Given the description of an element on the screen output the (x, y) to click on. 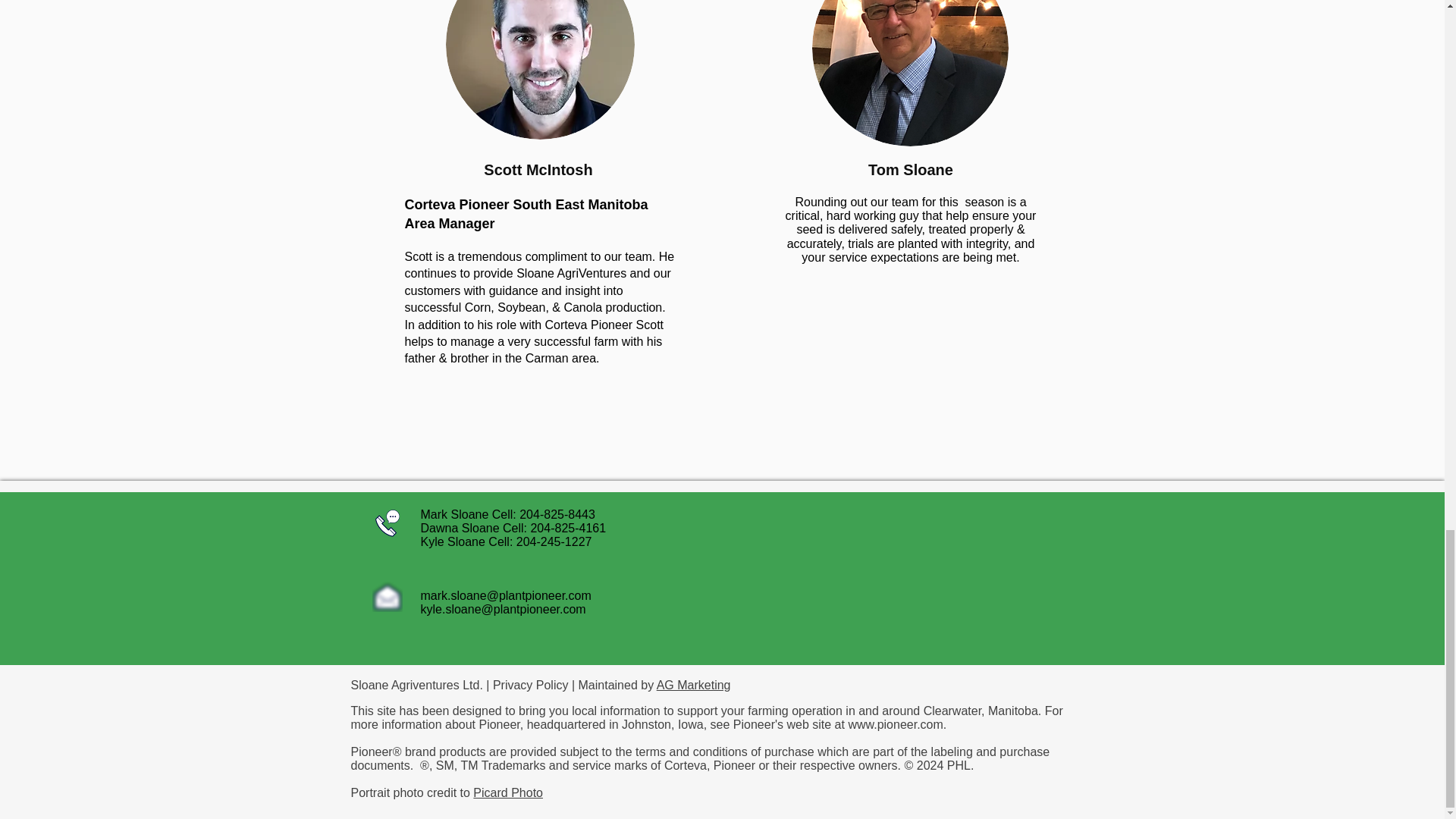
AG Marketing (693, 684)
Tom Sloane (908, 73)
guy2.jpg (539, 69)
Picard Photo (508, 792)
www.pioneer.com (894, 724)
